Given the description of an element on the screen output the (x, y) to click on. 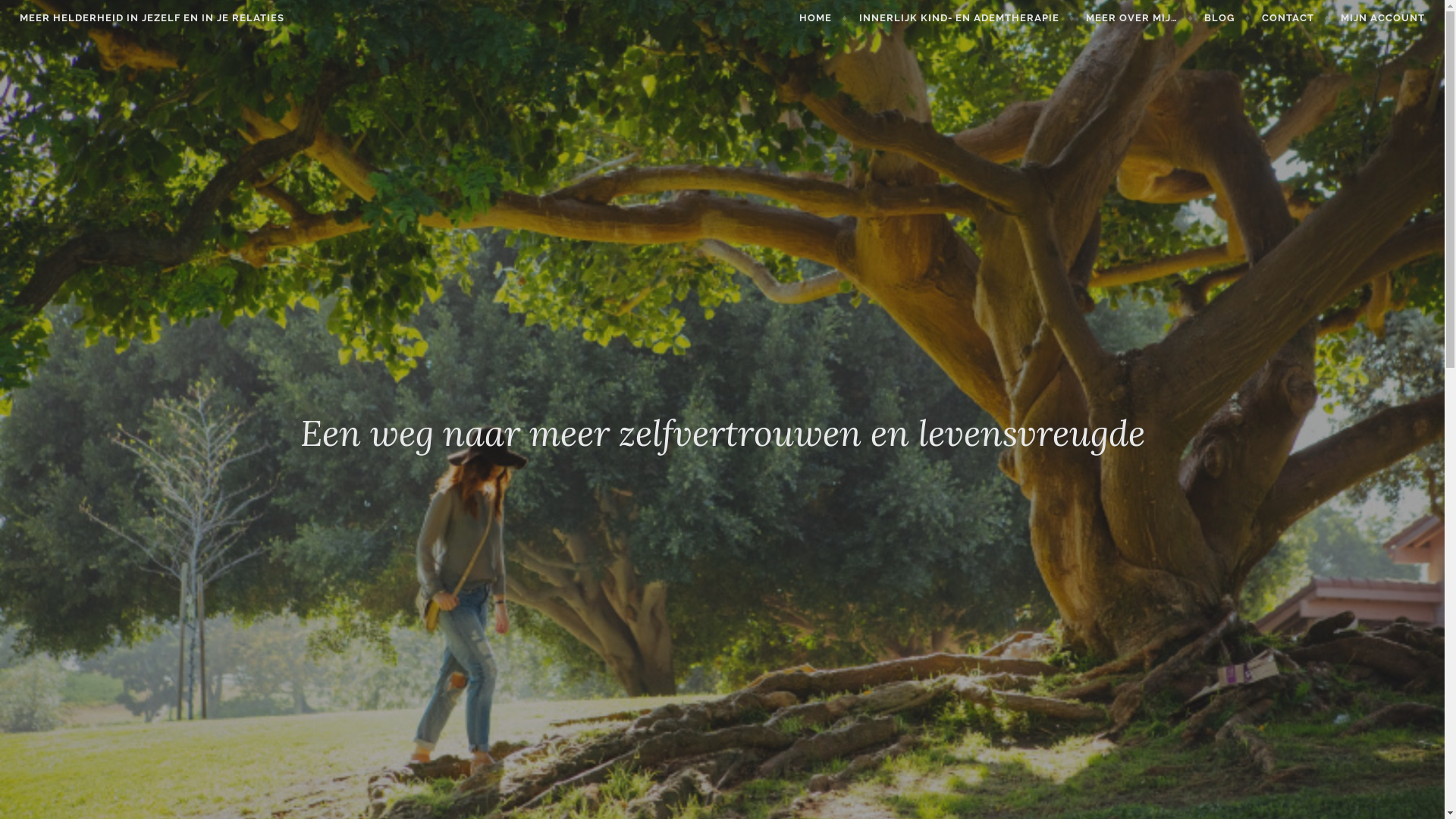
HOME Element type: text (823, 17)
BLOG Element type: text (1227, 17)
MIJN ACCOUNT Element type: text (1382, 17)
INNERLIJK KIND- EN ADEMTHERAPIE Element type: text (967, 17)
MEER HELDERHEID IN JEZELF EN IN JE RELATIES Element type: text (151, 17)
Zoeken Element type: text (36, 14)
Een weg naar meer zelfvertrouwen en levensvreugde Element type: text (722, 432)
CONTACT Element type: text (1295, 17)
